Given the description of an element on the screen output the (x, y) to click on. 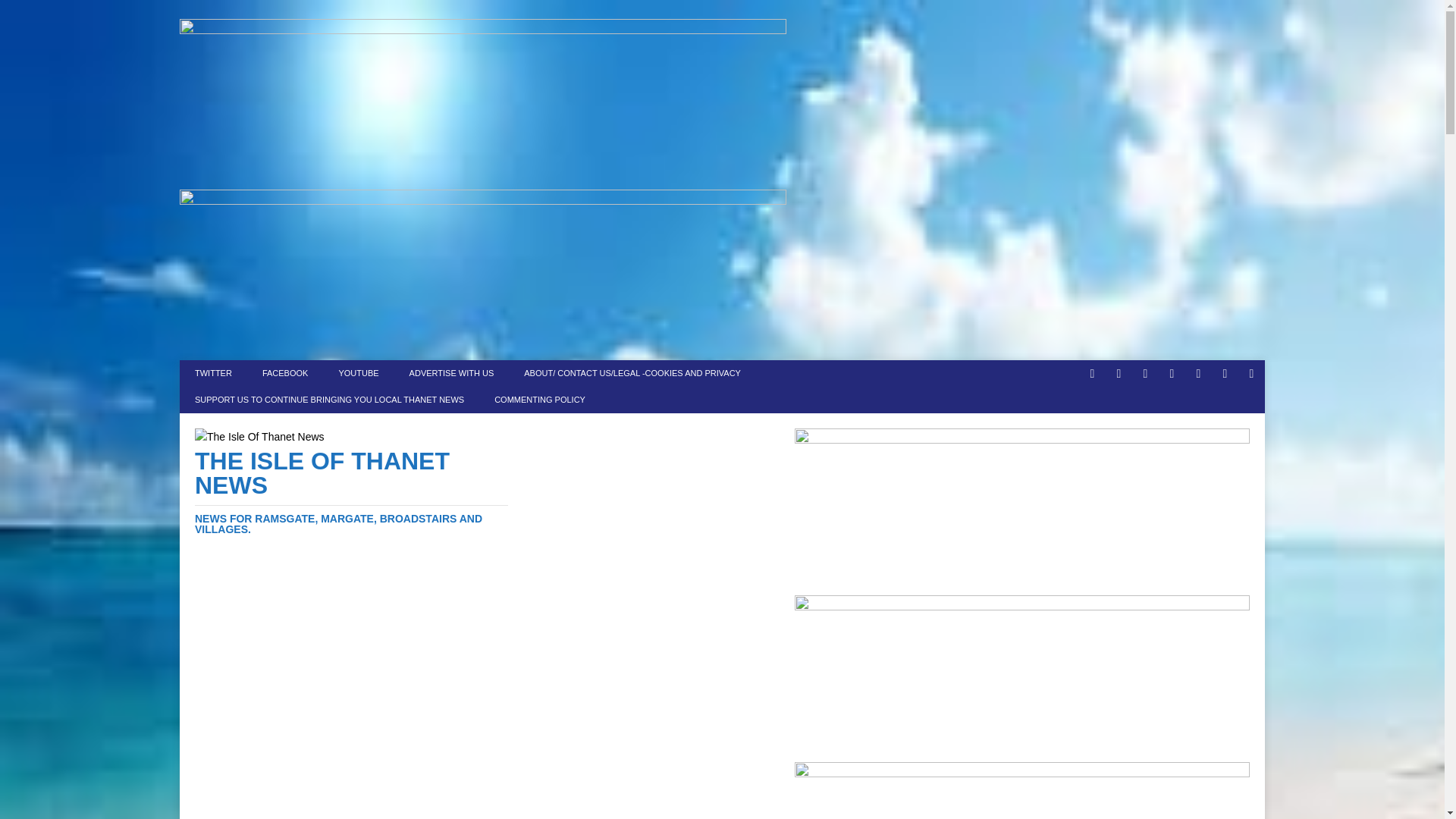
FACEBOOK (285, 373)
ADVERTISE WITH US (451, 373)
The Isle Of Thanet News (351, 491)
YOUTUBE (358, 373)
COMMENTING POLICY (539, 399)
TWITTER (213, 373)
SUPPORT US TO CONTINUE BRINGING YOU LOCAL THANET NEWS (329, 399)
